Given the description of an element on the screen output the (x, y) to click on. 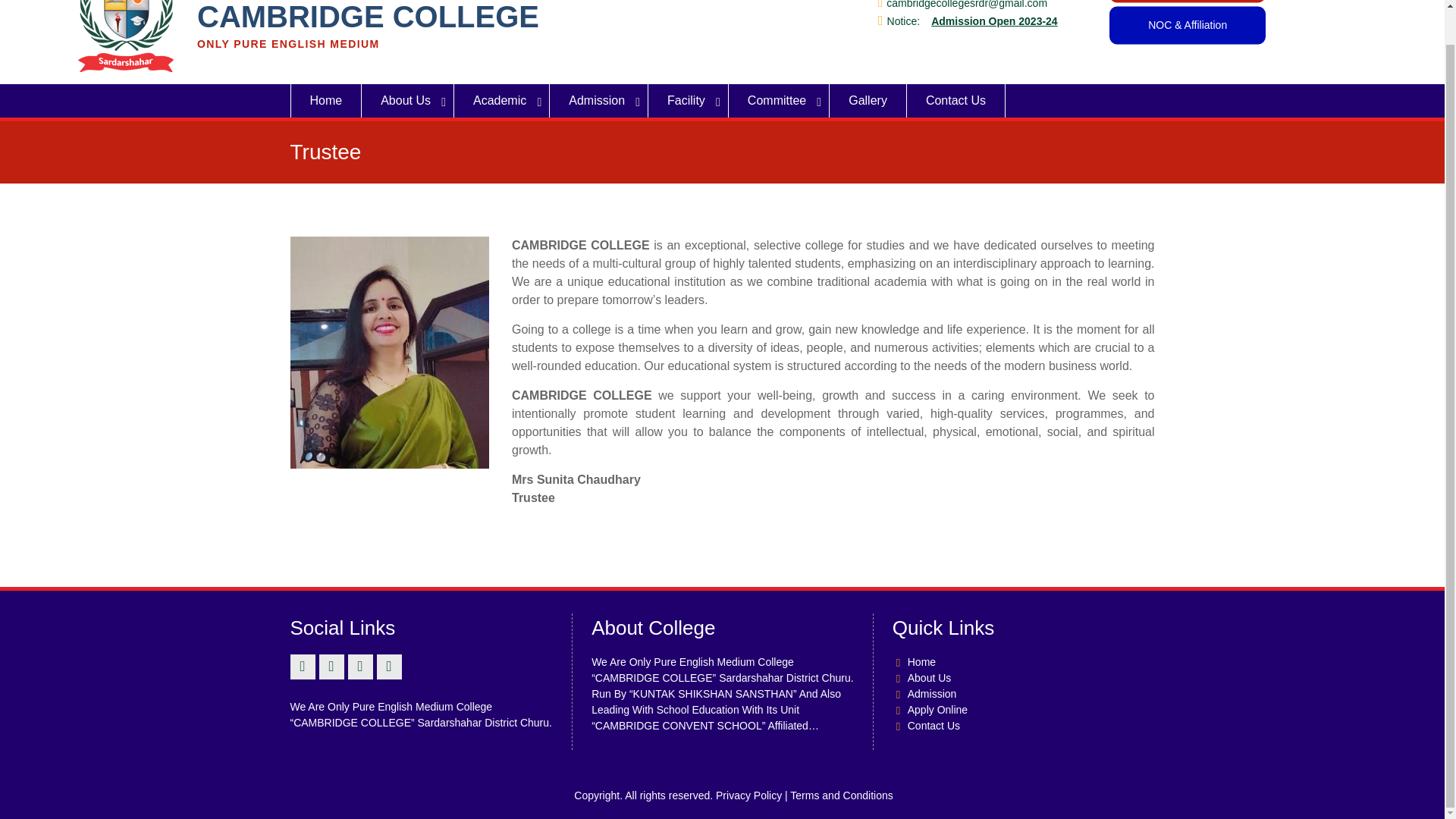
Annual-Report-2021-22 (1187, 1)
About Us (407, 100)
CAMBRIDGE COLLEGE (367, 16)
Admission (598, 100)
Admission Open 2023-24 (994, 21)
Facility (688, 100)
Home (325, 100)
Academic (502, 100)
Committee (779, 100)
